Given the description of an element on the screen output the (x, y) to click on. 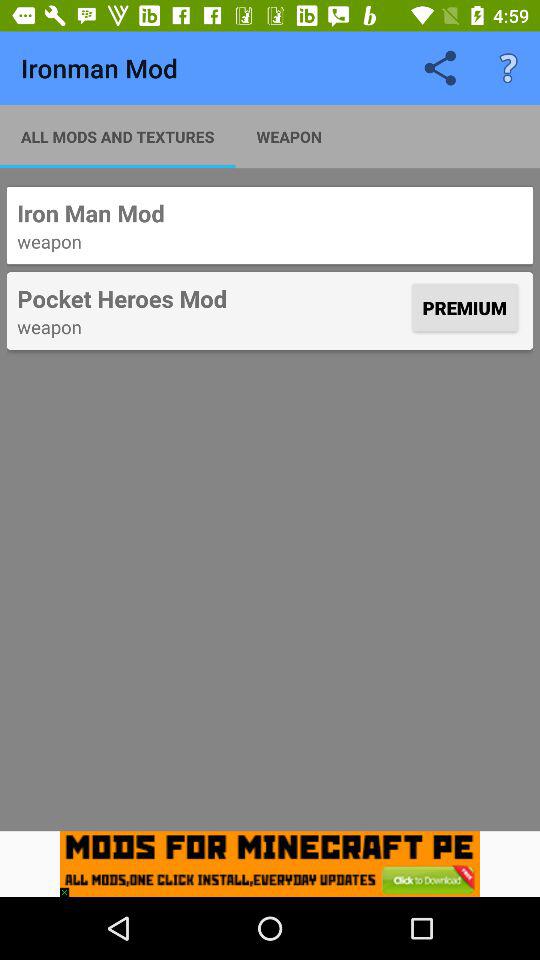
open the item to the left of the premium icon (211, 298)
